Given the description of an element on the screen output the (x, y) to click on. 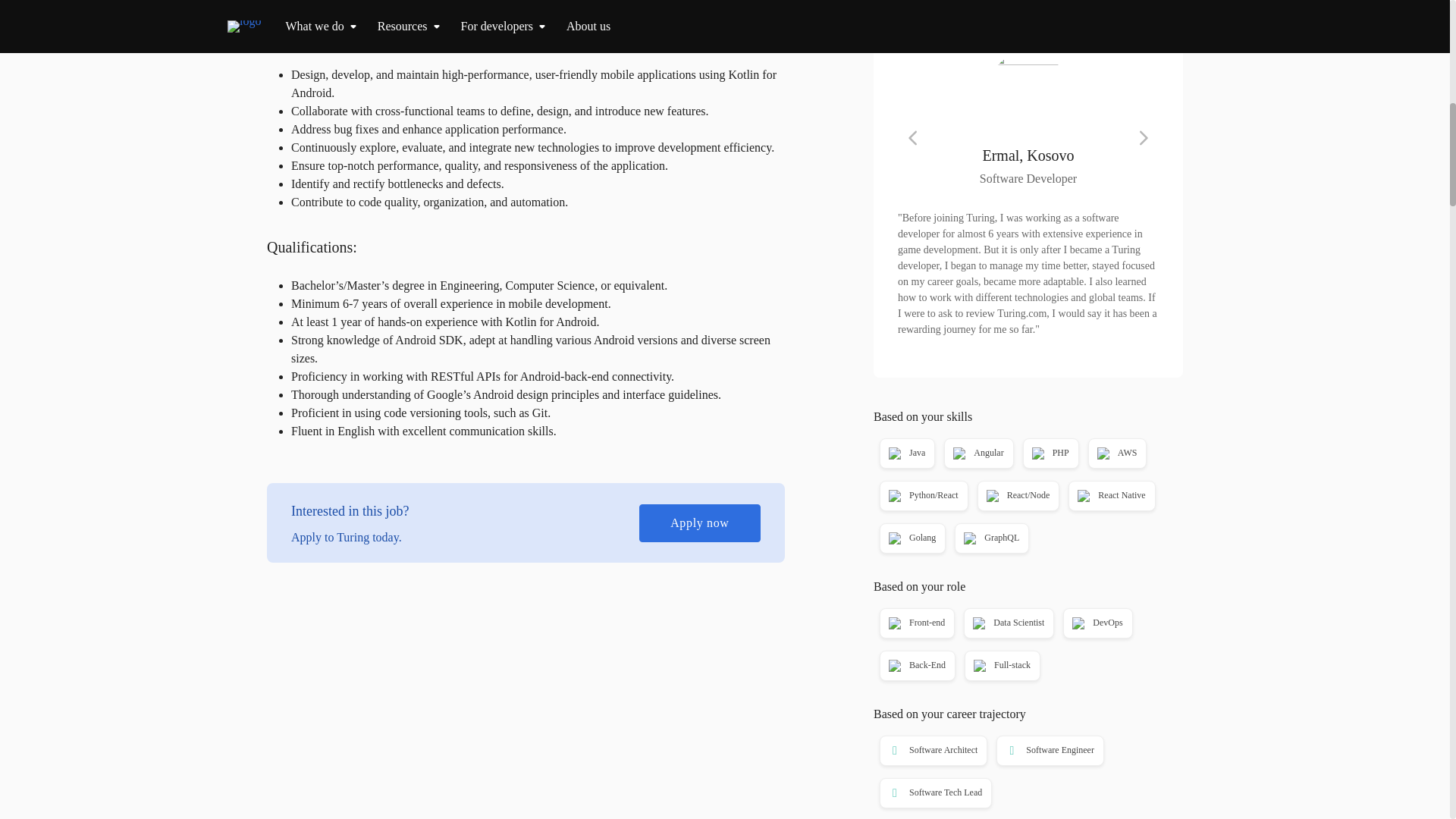
Software Tech Lead (933, 793)
Full-stack (1000, 665)
Back-End (915, 665)
Java (905, 453)
Apply now (1027, 4)
Apply now (699, 523)
Apply now (1027, 4)
PHP (1048, 453)
Golang (911, 537)
GraphQL (990, 537)
